Given the description of an element on the screen output the (x, y) to click on. 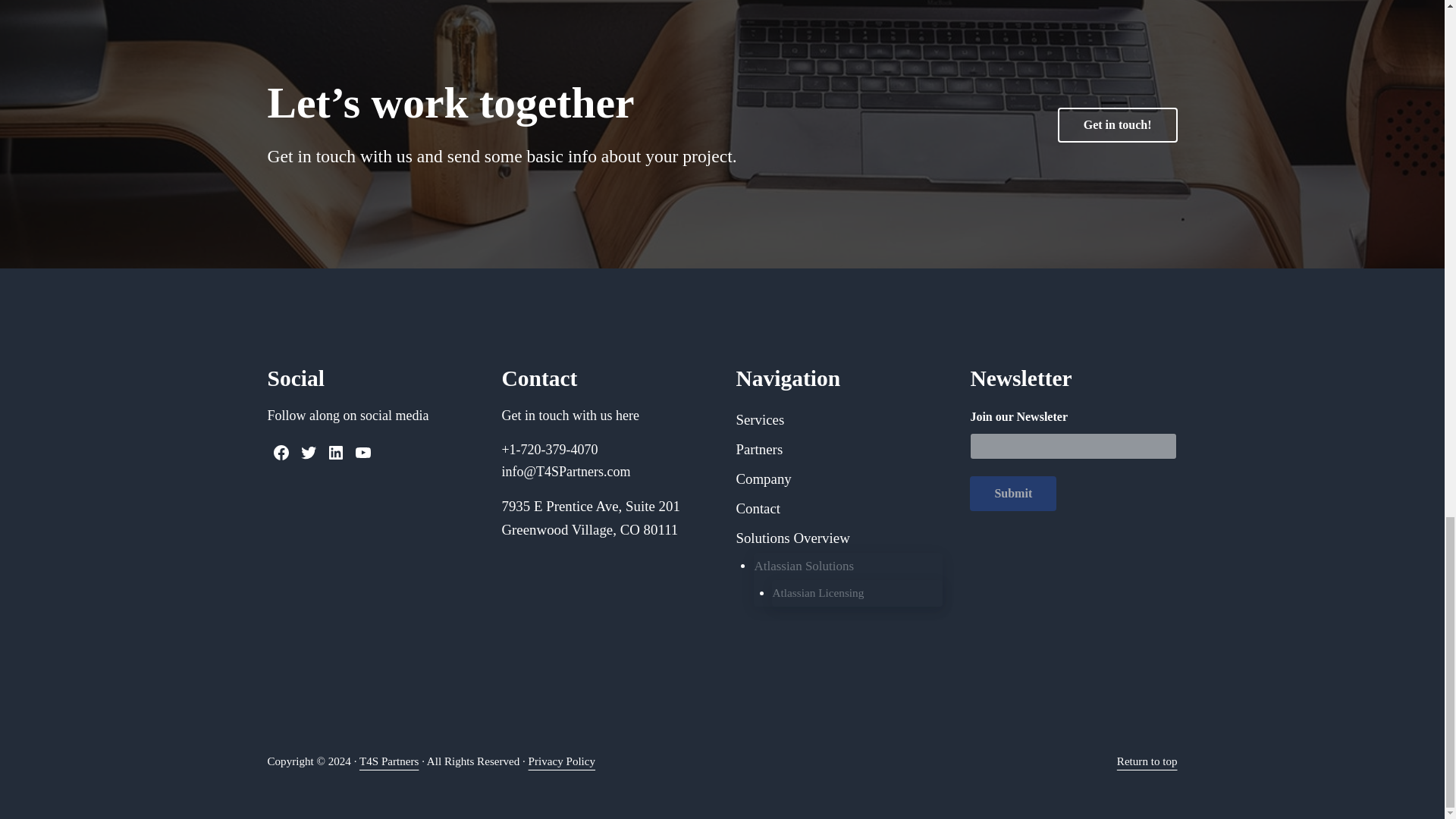
Submit (1013, 492)
